Given the description of an element on the screen output the (x, y) to click on. 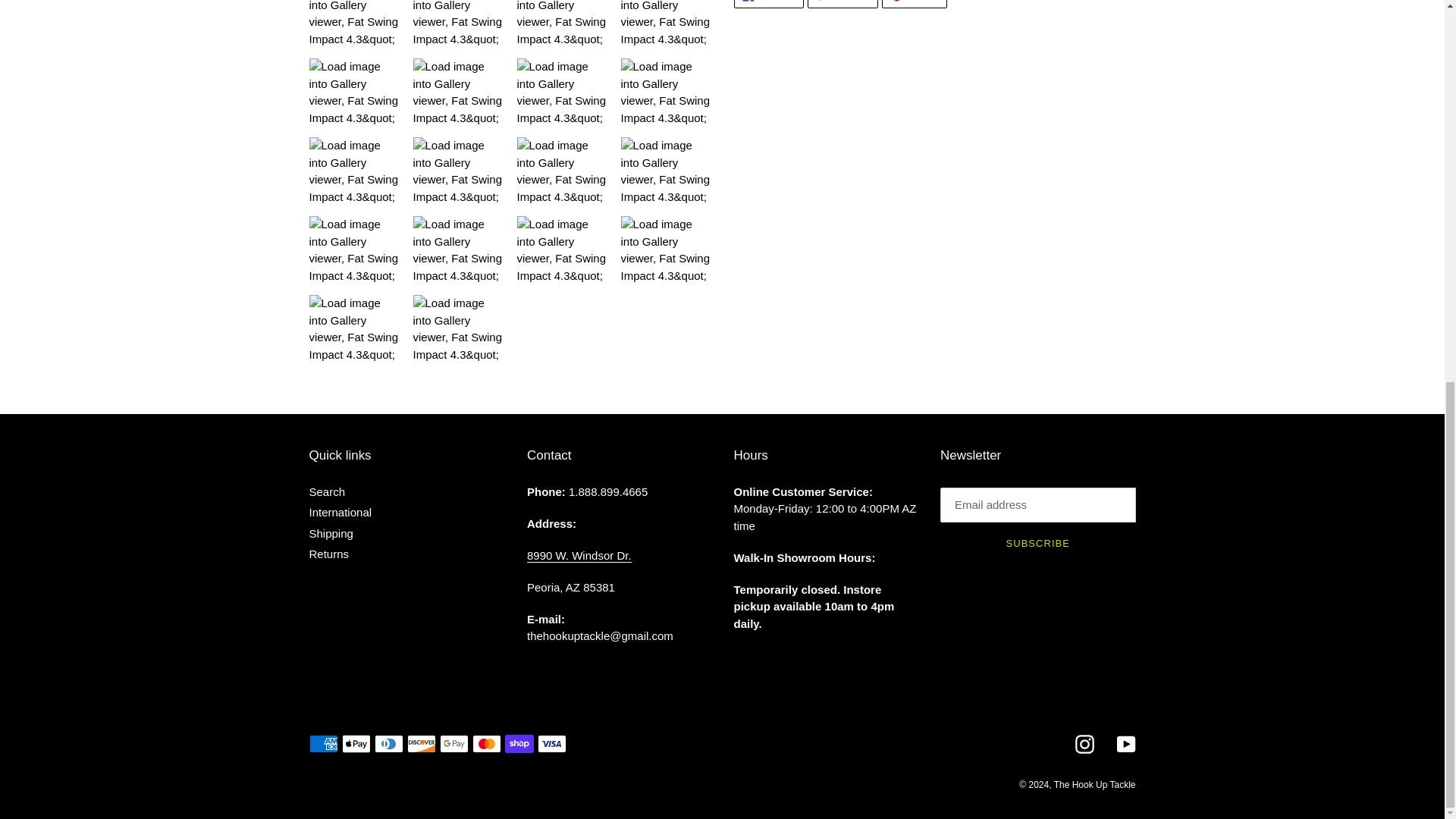
The Hook Up Tackle Map (579, 555)
